Given the description of an element on the screen output the (x, y) to click on. 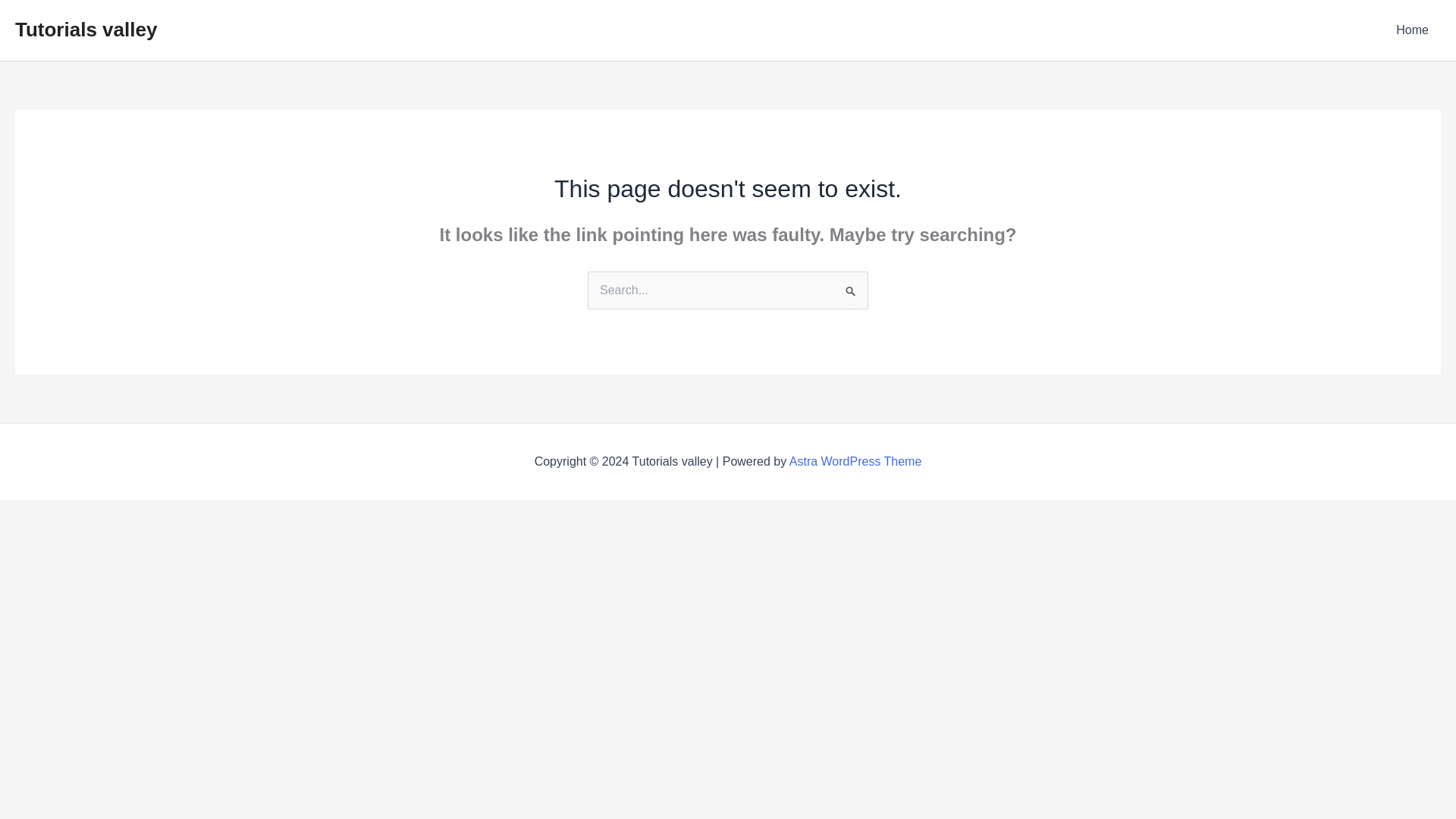
Tutorials valley (85, 29)
Home (1412, 30)
Astra WordPress Theme (855, 461)
